Given the description of an element on the screen output the (x, y) to click on. 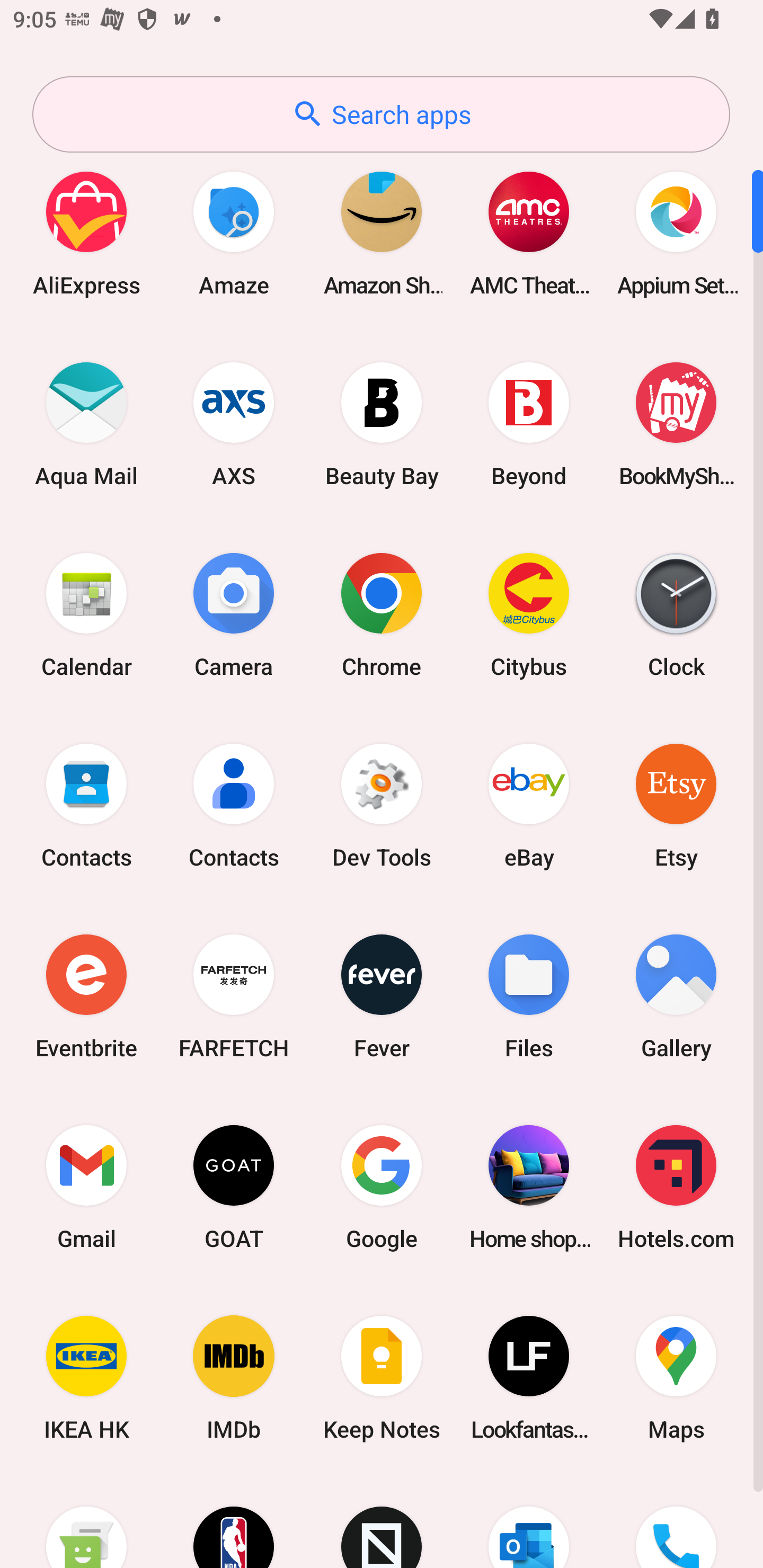
  Search apps (381, 114)
AliExpress (86, 233)
Amaze (233, 233)
Amazon Shopping (381, 233)
AMC Theatres (528, 233)
Appium Settings (676, 233)
Aqua Mail (86, 424)
AXS (233, 424)
Beauty Bay (381, 424)
Beyond (528, 424)
BookMyShow (676, 424)
Calendar (86, 614)
Camera (233, 614)
Chrome (381, 614)
Citybus (528, 614)
Clock (676, 614)
Contacts (86, 805)
Contacts (233, 805)
Dev Tools (381, 805)
eBay (528, 805)
Etsy (676, 805)
Eventbrite (86, 996)
FARFETCH (233, 996)
Fever (381, 996)
Files (528, 996)
Gallery (676, 996)
Gmail (86, 1186)
GOAT (233, 1186)
Google (381, 1186)
Home shopping (528, 1186)
Hotels.com (676, 1186)
IKEA HK (86, 1377)
IMDb (233, 1377)
Keep Notes (381, 1377)
Lookfantastic (528, 1377)
Maps (676, 1377)
